Given the description of an element on the screen output the (x, y) to click on. 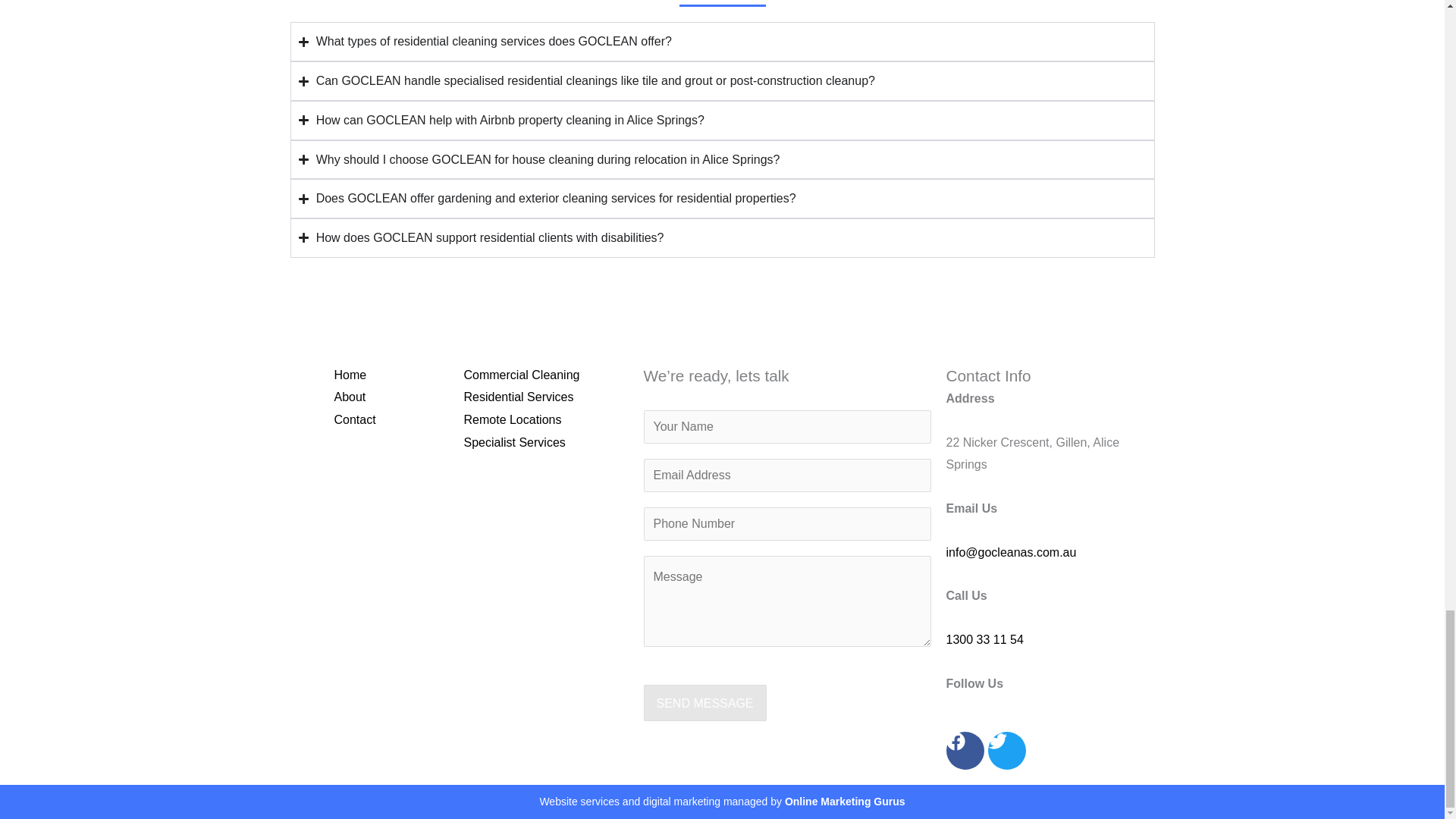
Commercial Cleaning (521, 374)
Residential Services (518, 396)
Remote Locations (513, 419)
Specialist Services (515, 441)
Contact (354, 419)
Home (349, 374)
About (349, 396)
